Given the description of an element on the screen output the (x, y) to click on. 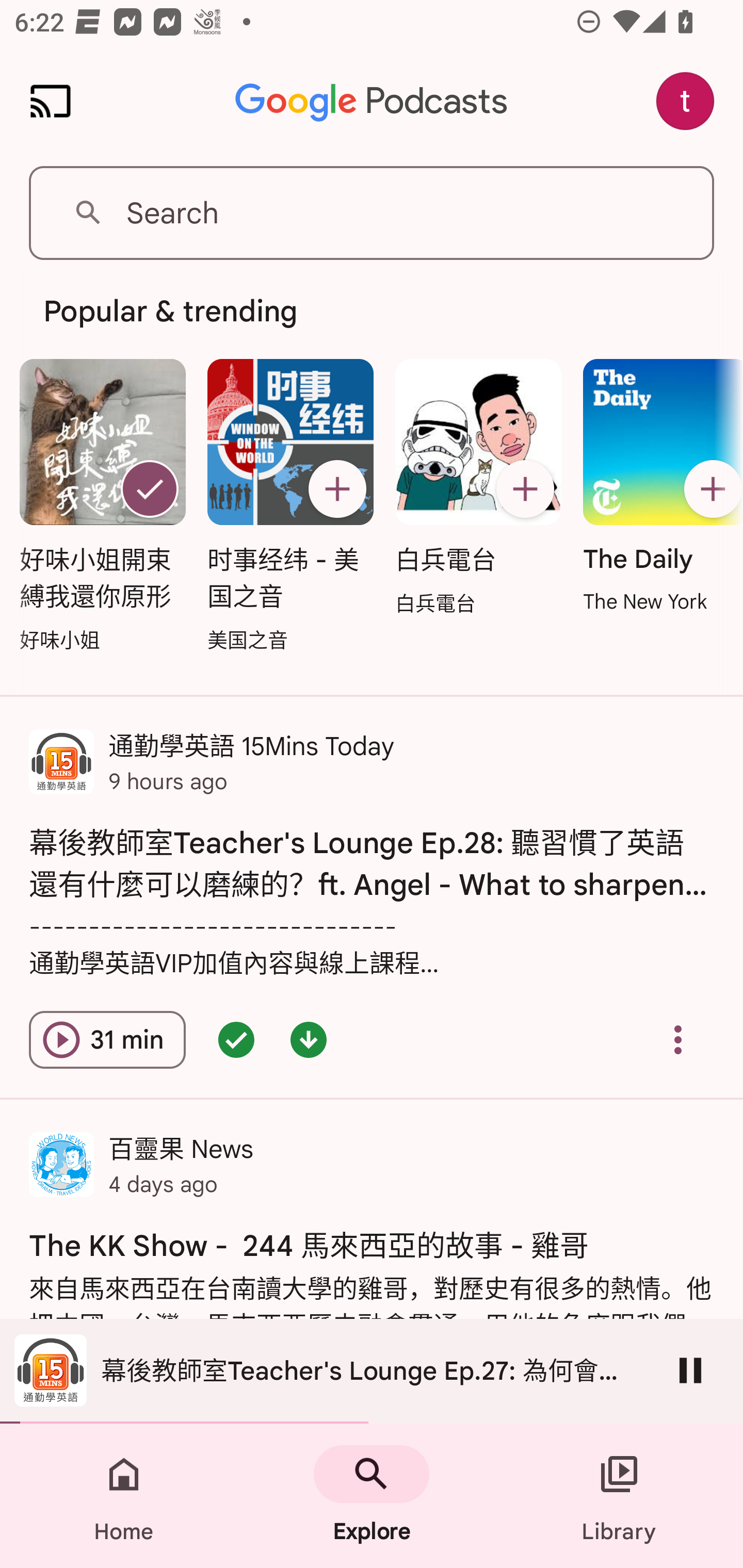
Cast. Disconnected (50, 101)
Search (371, 212)
好味小姐開束縛我還你原形 Unsubscribe 好味小姐開束縛我還你原形 好味小姐 (102, 507)
时事经纬 - 美国之音 Subscribe 时事经纬 - 美国之音 美国之音 (290, 507)
白兵電台 Subscribe 白兵電台 白兵電台 (478, 488)
The Daily Subscribe The Daily The New York Times (657, 487)
Unsubscribe (149, 489)
Subscribe (337, 489)
Subscribe (524, 489)
Subscribe (709, 489)
Episode queued - double tap for options (235, 1040)
Episode downloaded - double tap for options (308, 1040)
Overflow menu (677, 1040)
Pause (690, 1370)
Home (123, 1495)
Library (619, 1495)
